Given the description of an element on the screen output the (x, y) to click on. 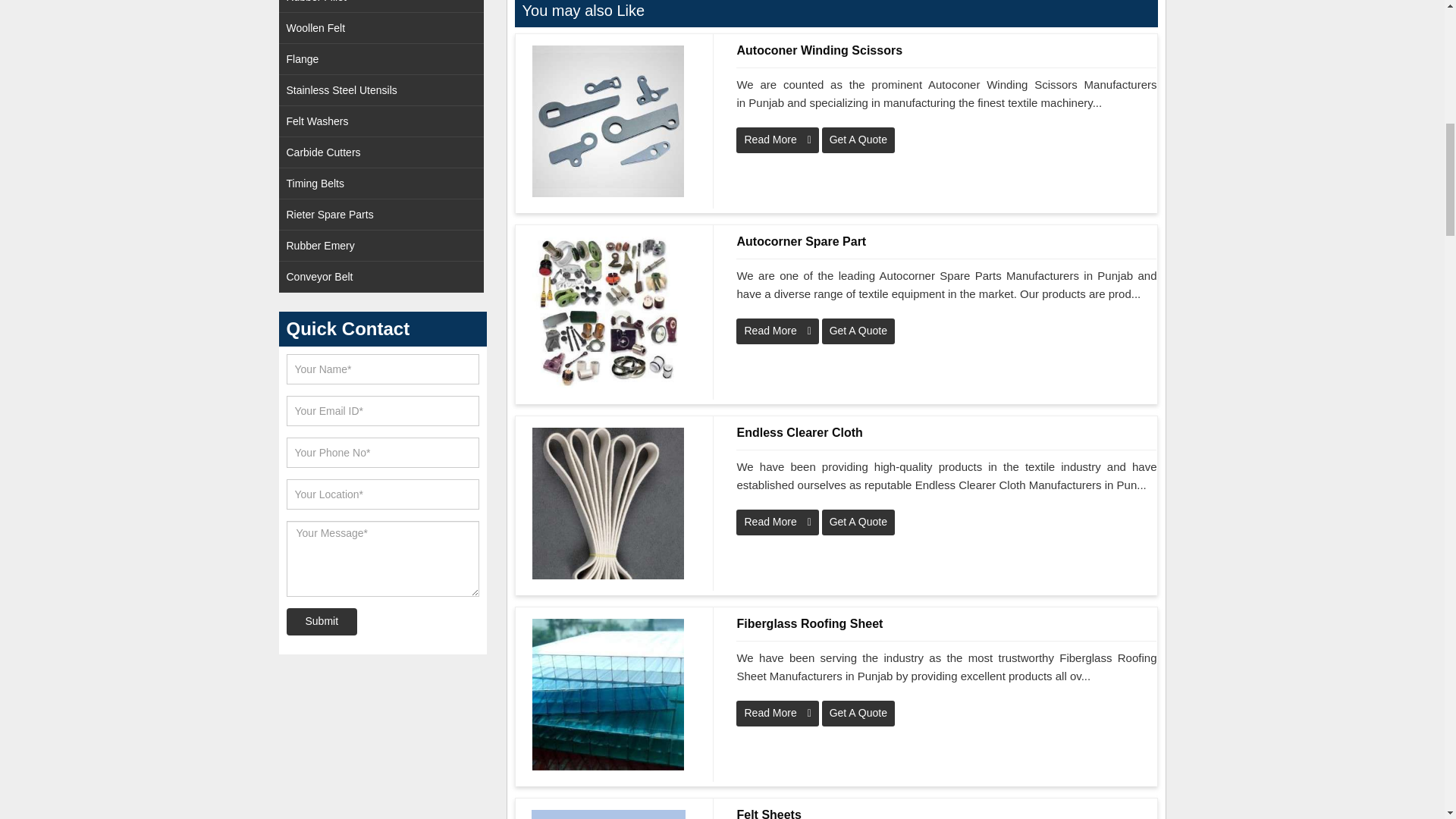
Get A Quote (858, 330)
Get A Quote (858, 330)
Autoconer Winding Scissors (946, 50)
Read More (777, 713)
Get A Quote (858, 140)
Felt Sheets (946, 812)
Read More (777, 330)
Autocorner Spare Part (946, 241)
Endless Clearer Cloth (946, 433)
Autoconer Winding Scissors (946, 50)
 Autocorner Spare Part Manufacturers in Punjab (608, 312)
Endless Clearer Cloth (608, 503)
Read More (777, 522)
Get A Quote (858, 522)
Get A Quote (858, 713)
